Given the description of an element on the screen output the (x, y) to click on. 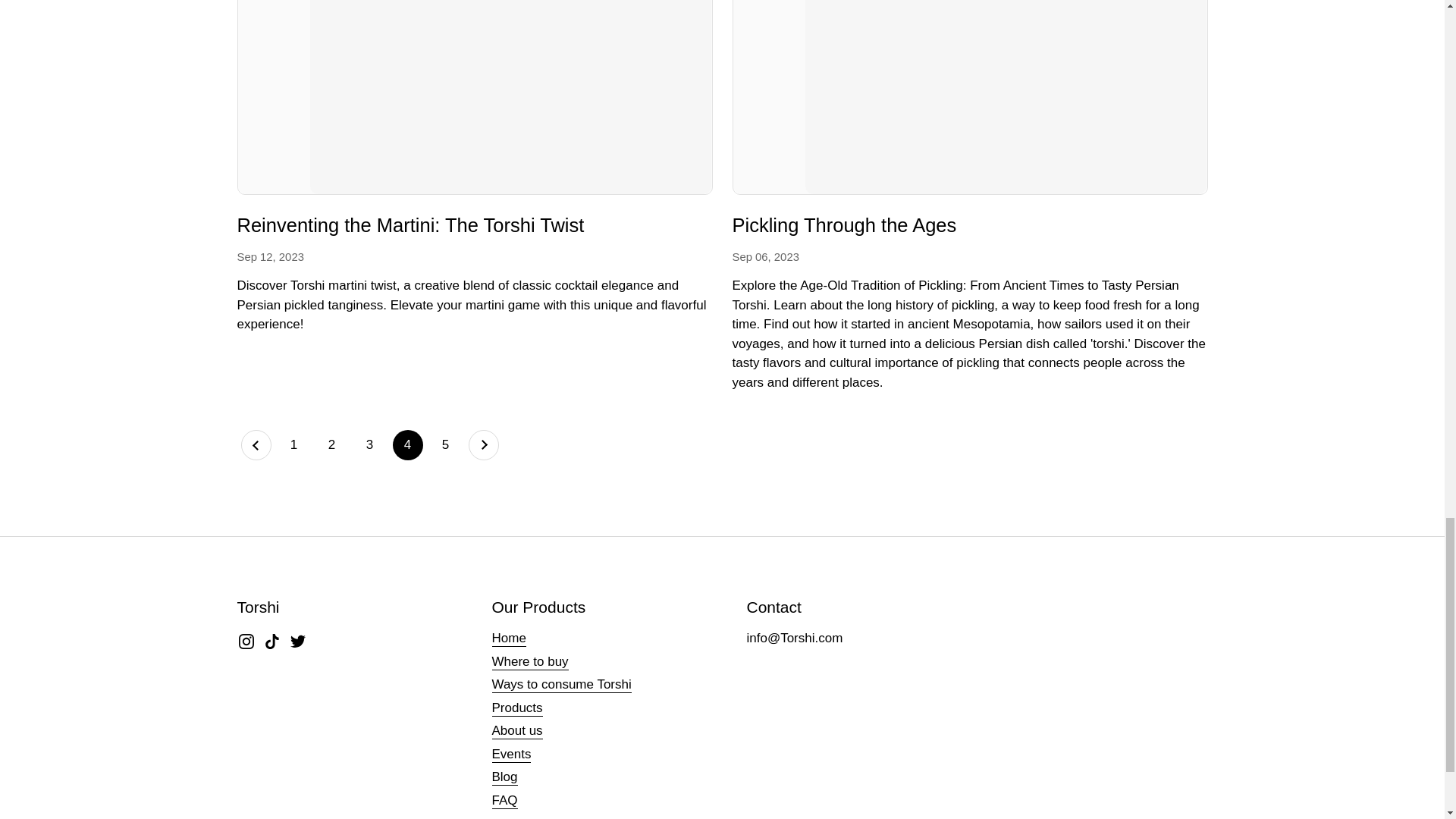
Pickling Through the Ages (970, 97)
Pickling Through the Ages (844, 227)
Reinventing the Martini: The Torshi Twist (409, 227)
Reinventing the Martini: The Torshi Twist (473, 97)
Reinventing the Martini: The Torshi Twist (409, 227)
